Given the description of an element on the screen output the (x, y) to click on. 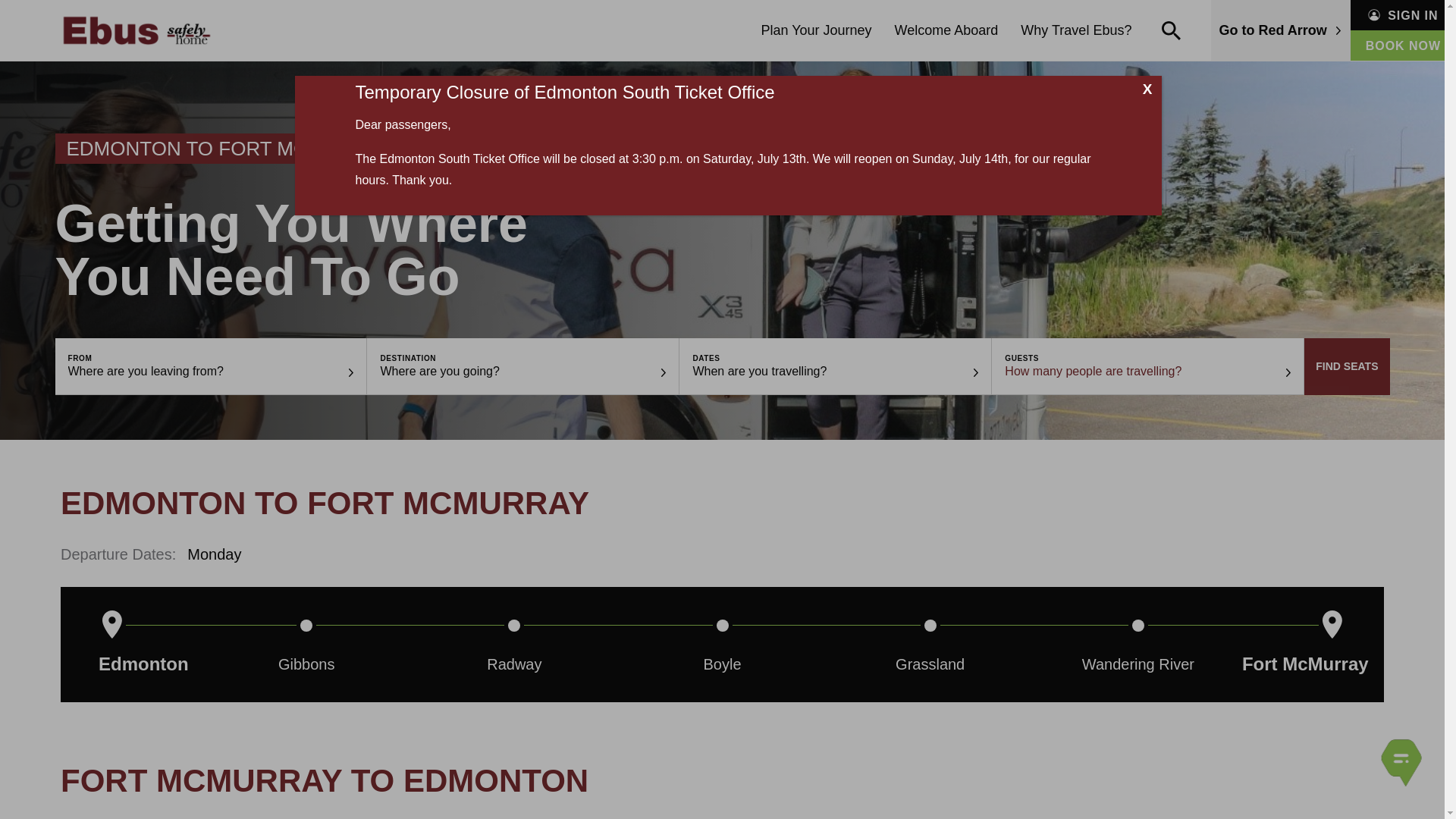
add (844, 411)
Ebus (136, 30)
When are you travelling? (760, 370)
Where are you leaving from? (146, 370)
FIND SEATS (1346, 366)
Where are you going? (439, 370)
Go to Red Arrow (1280, 30)
SIGN IN (1403, 14)
Plan Your Journey (815, 30)
Why Travel Ebus? (1075, 30)
BOOK NOW (1403, 44)
login (18, 9)
Welcome Aboard (946, 30)
